Given the description of an element on the screen output the (x, y) to click on. 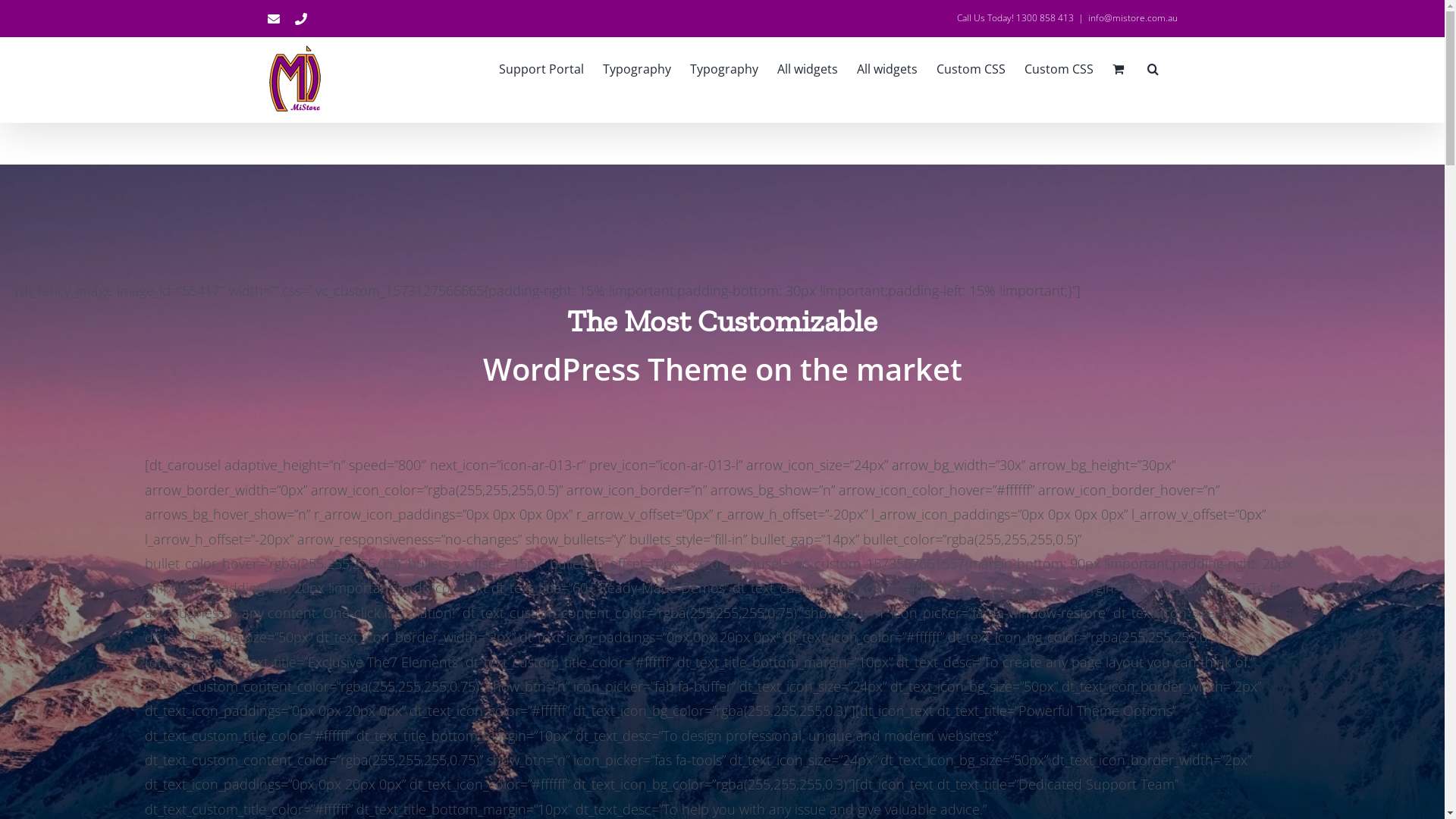
Typography Element type: text (636, 67)
info@mistore.com.au Element type: text (1131, 17)
Email Element type: text (272, 18)
Phone Element type: text (300, 18)
Support Portal Element type: text (540, 67)
Custom CSS Element type: text (969, 67)
All widgets Element type: text (886, 67)
All widgets Element type: text (806, 67)
Typography Element type: text (724, 67)
Search Element type: hover (1151, 67)
Custom CSS Element type: text (1057, 67)
